Given the description of an element on the screen output the (x, y) to click on. 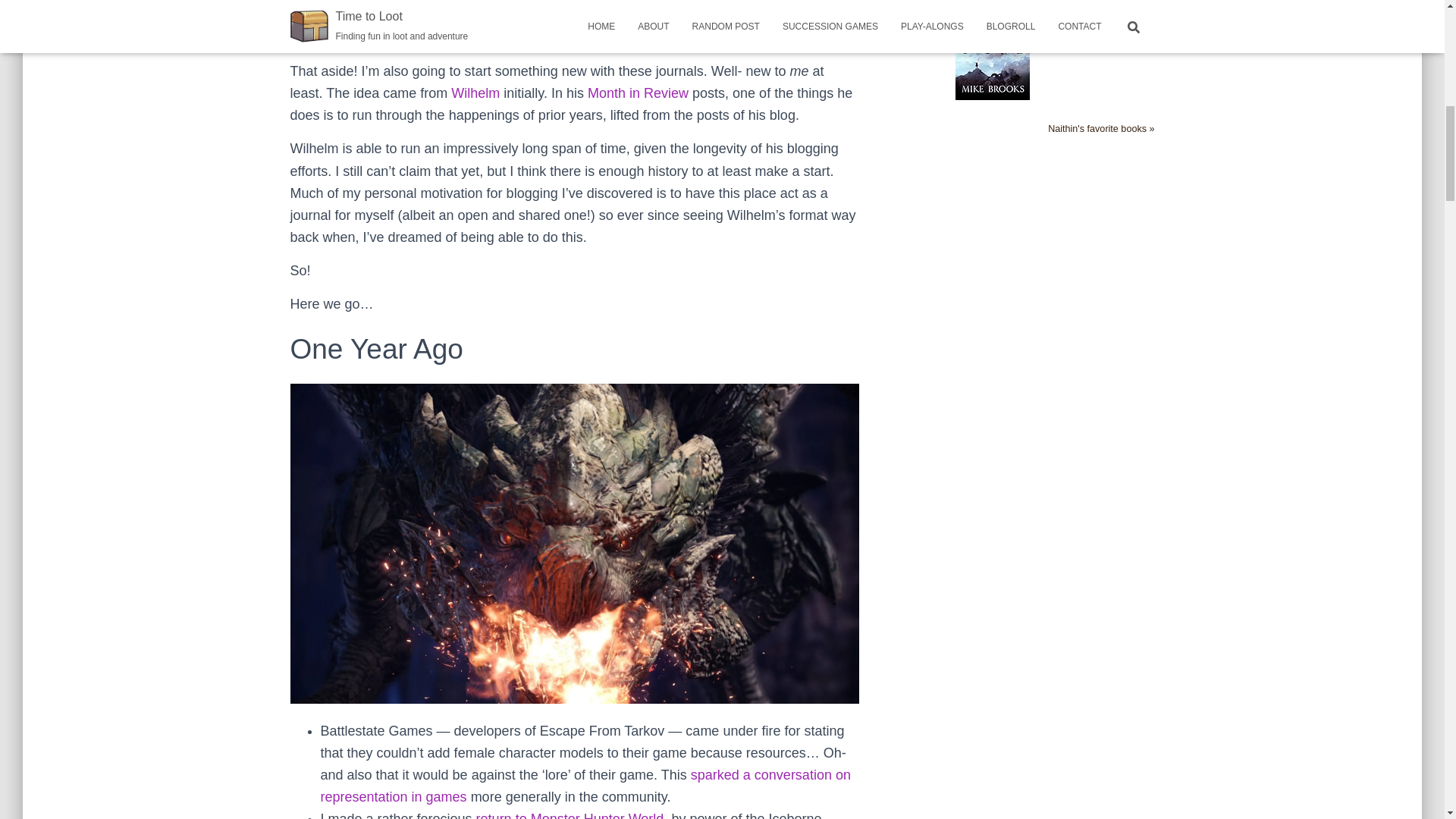
return to Monster Hunter World (569, 815)
Month in Review (638, 92)
sparked a conversation on representation in games (585, 785)
Wilhelm (475, 92)
